Given the description of an element on the screen output the (x, y) to click on. 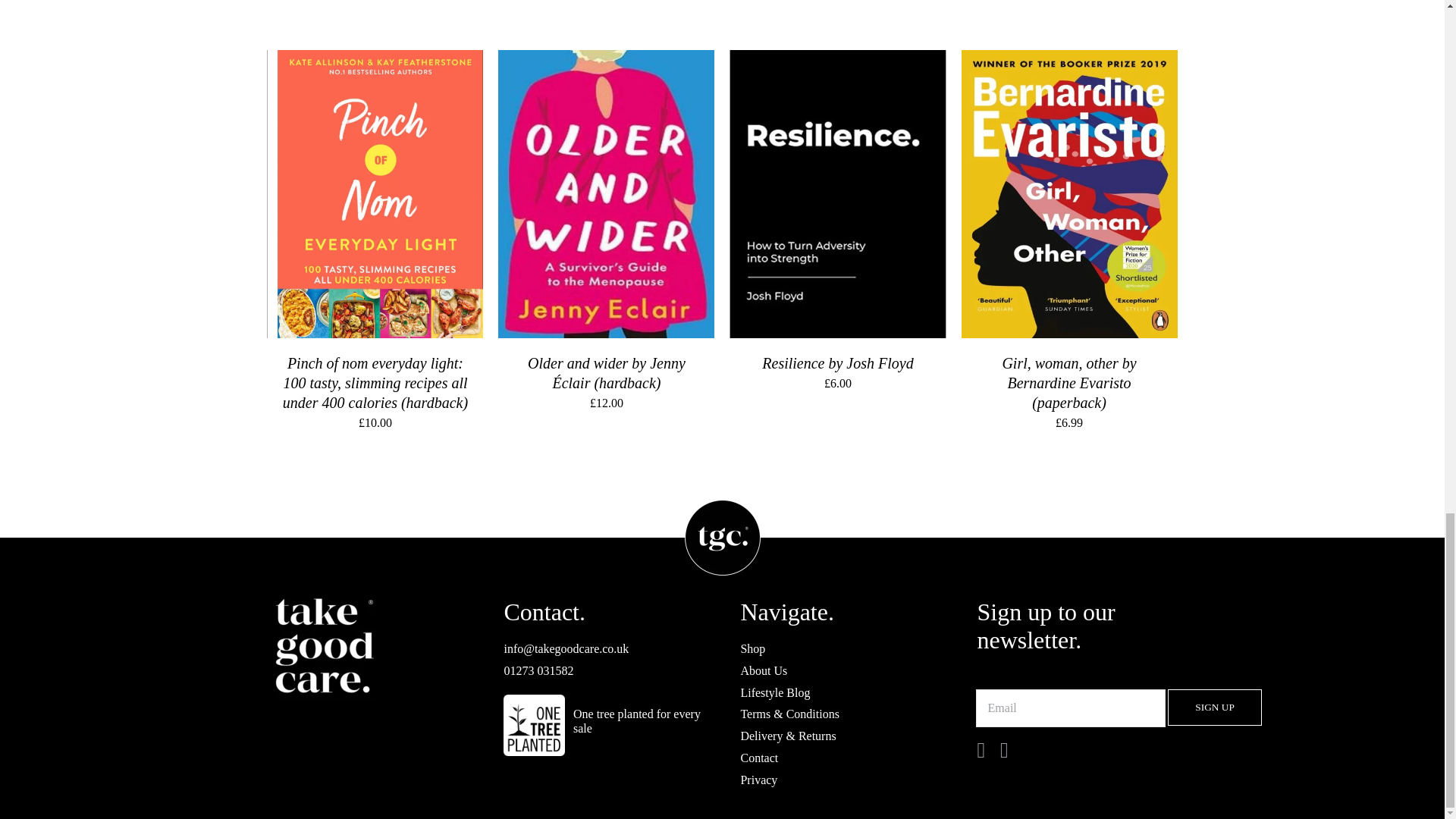
TGC-logo-white-square-400 (323, 647)
TGC circle with outline (722, 537)
SIGN UP (1213, 707)
